Given the description of an element on the screen output the (x, y) to click on. 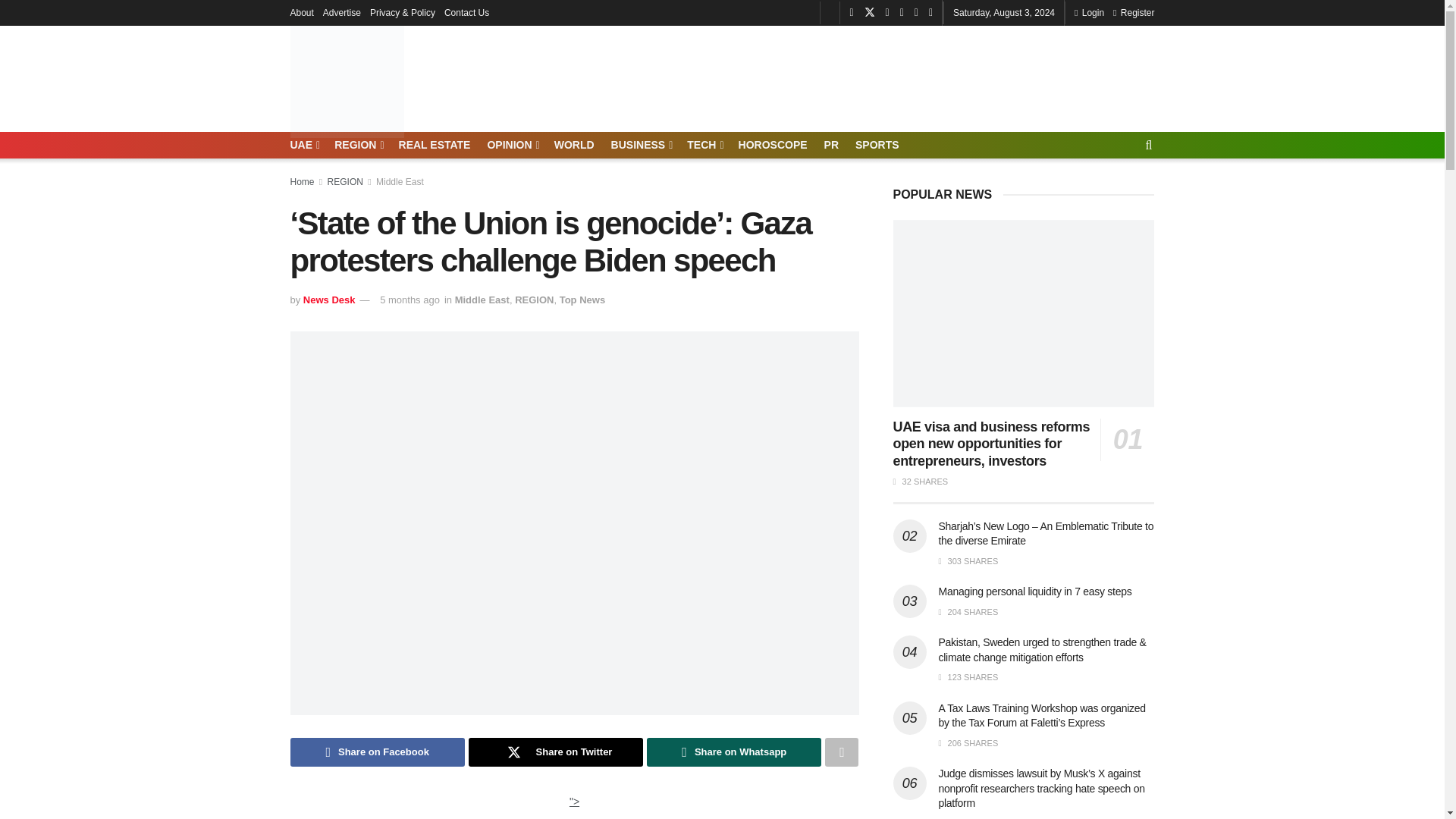
BUSINESS (641, 144)
WORLD (574, 144)
Advertise (342, 12)
REAL ESTATE (434, 144)
UAE (303, 144)
REGION (357, 144)
About (301, 12)
Contact Us (466, 12)
Login (1088, 12)
OPINION (511, 144)
